Given the description of an element on the screen output the (x, y) to click on. 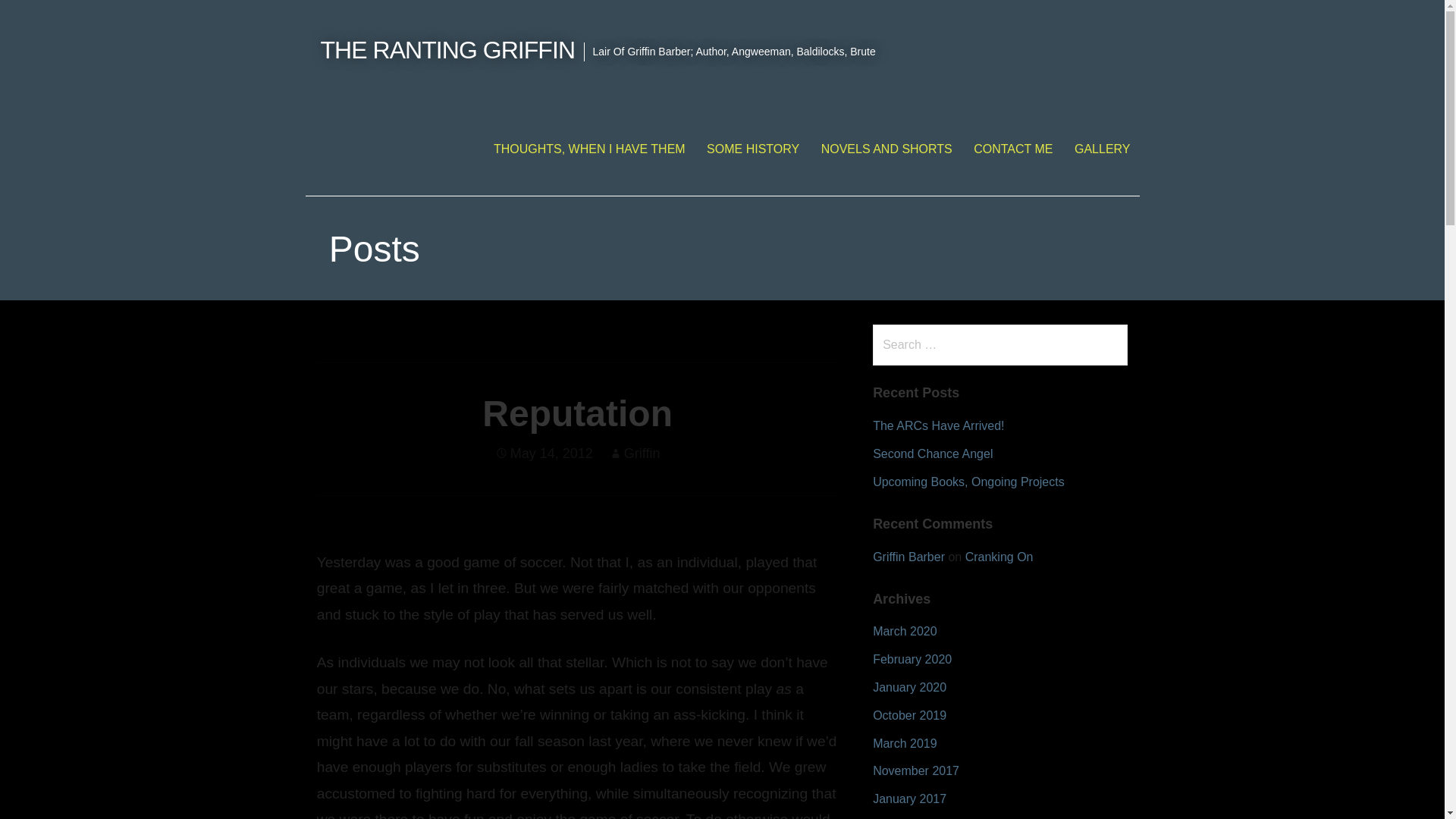
October 2019 (909, 715)
November 2017 (915, 770)
March 2019 (904, 743)
CONTACT ME (1012, 148)
January 2020 (909, 686)
Griffin Barber (908, 556)
THOUGHTS, WHEN I HAVE THEM (589, 148)
February 2020 (912, 658)
Upcoming Books, Ongoing Projects (968, 481)
THE RANTING GRIFFIN (447, 49)
Cranking On (999, 556)
January 2017 (909, 798)
Griffin (642, 453)
Posts by Griffin (642, 453)
Search (42, 18)
